Given the description of an element on the screen output the (x, y) to click on. 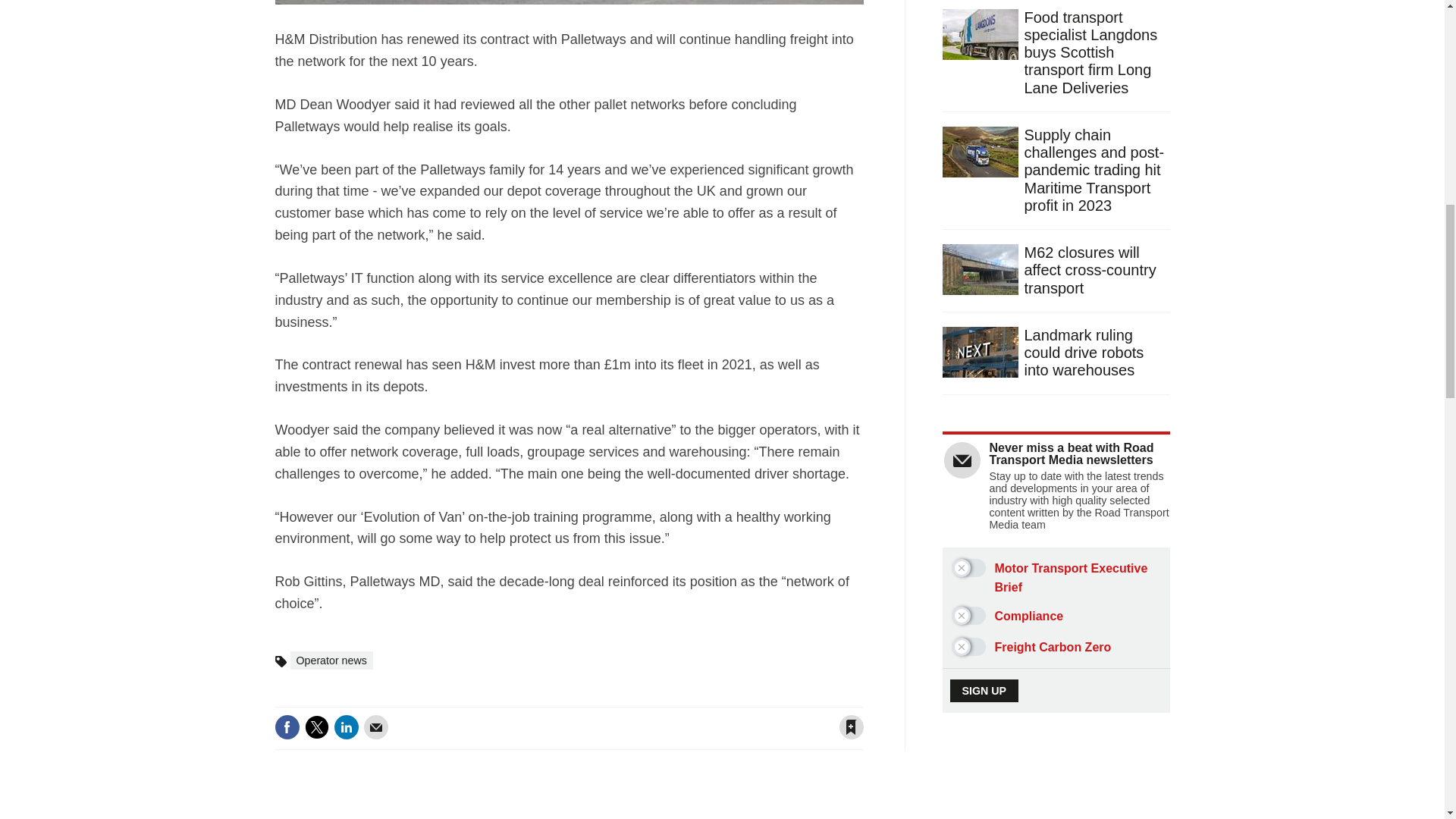
Share this on Twitter (316, 726)
Share this on Linked in (345, 726)
3rd party ad content (1056, 796)
Share this on Facebook (286, 726)
Email this article (376, 726)
